Given the description of an element on the screen output the (x, y) to click on. 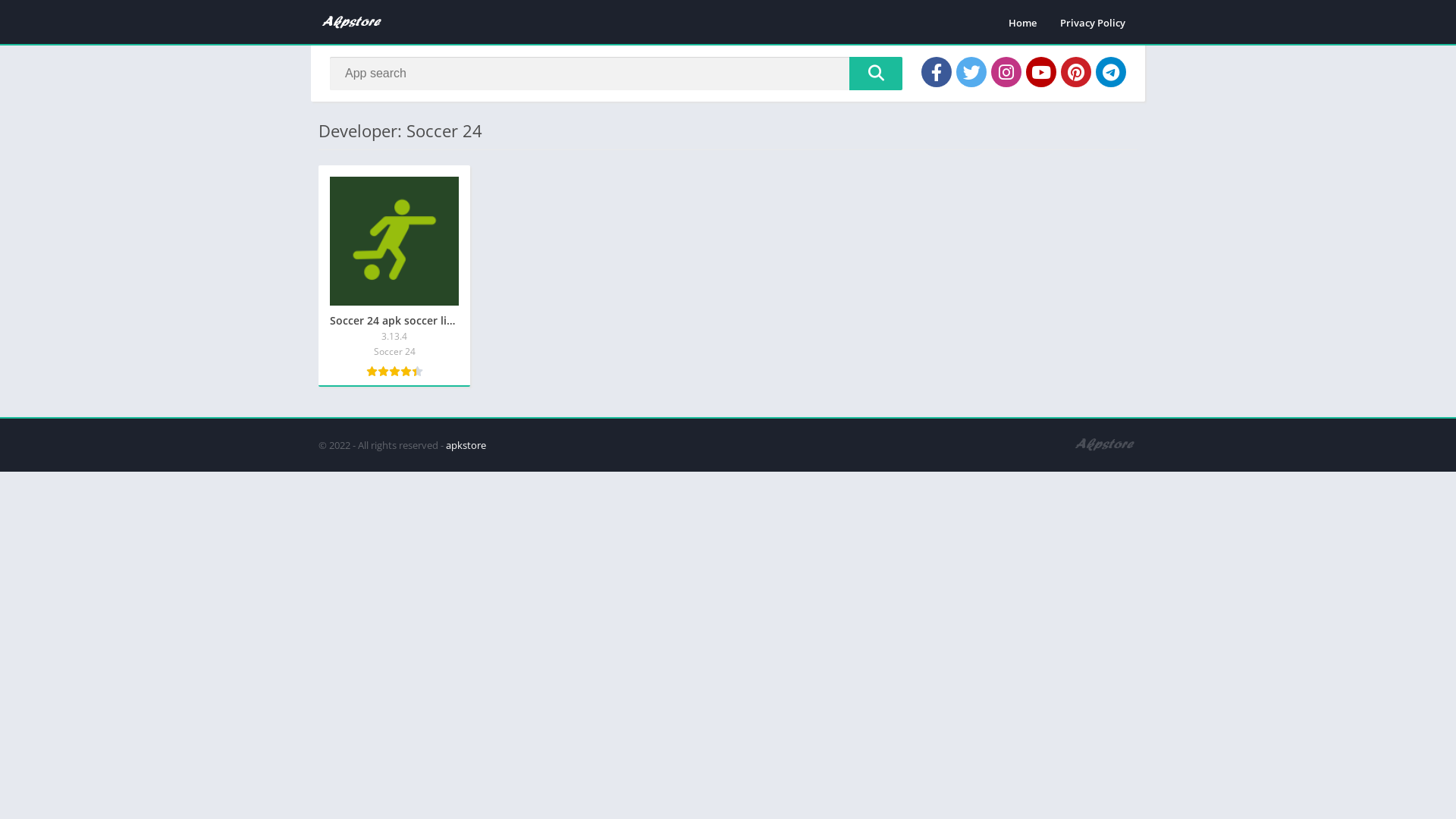
YouTube Element type: hover (1041, 71)
Instagram Element type: hover (1006, 71)
Facebook Element type: hover (936, 71)
Twitter Element type: hover (971, 71)
Privacy Policy Element type: text (1092, 22)
apkstore Element type: text (465, 444)
Pinterest Element type: hover (1075, 71)
Soccer 24 apk soccer live scores download
3.13.4
Soccer 24 Element type: text (394, 275)
Home Element type: text (1022, 22)
Telegram Element type: hover (1110, 71)
App search Element type: hover (875, 73)
